Given the description of an element on the screen output the (x, y) to click on. 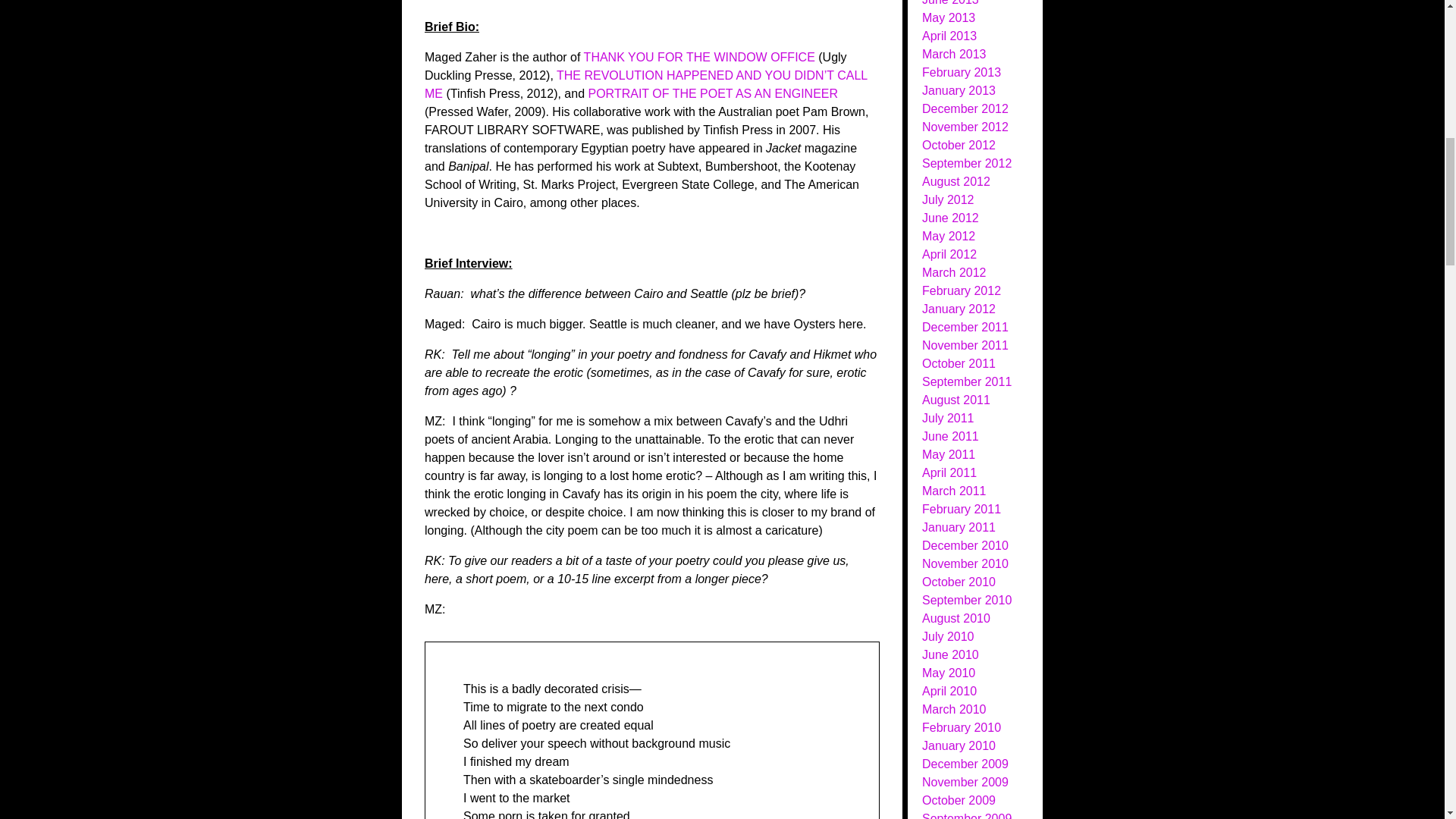
THANK YOU FOR THE WINDOW OFFICE (699, 56)
PORTRAIT OF THE POET AS AN ENGINEER (713, 92)
